Given the description of an element on the screen output the (x, y) to click on. 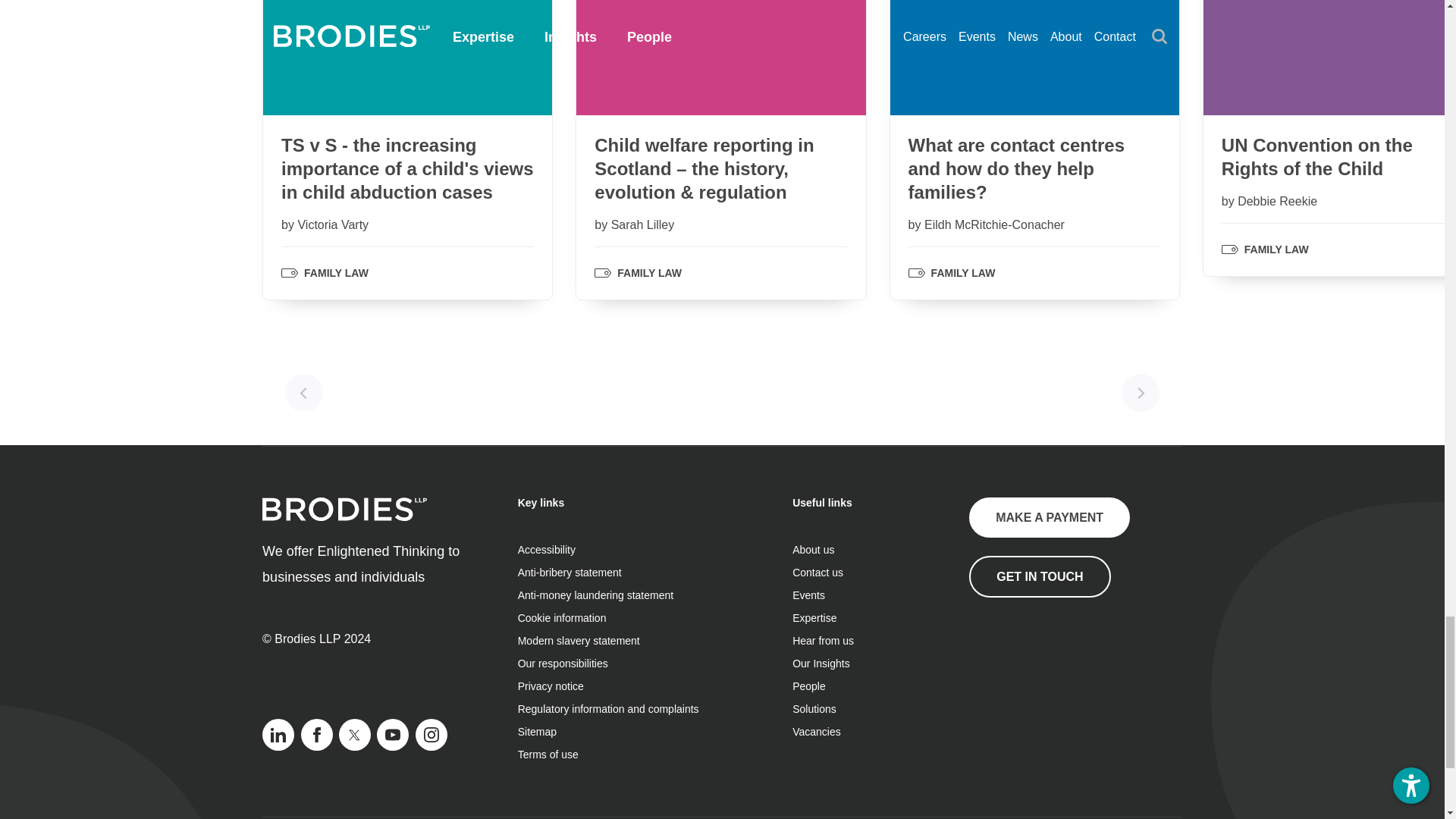
Click to return to the homepage (344, 516)
Solicitors Regulation Authority link (1045, 672)
Youtube logo (392, 734)
Brodies (344, 508)
